Given the description of an element on the screen output the (x, y) to click on. 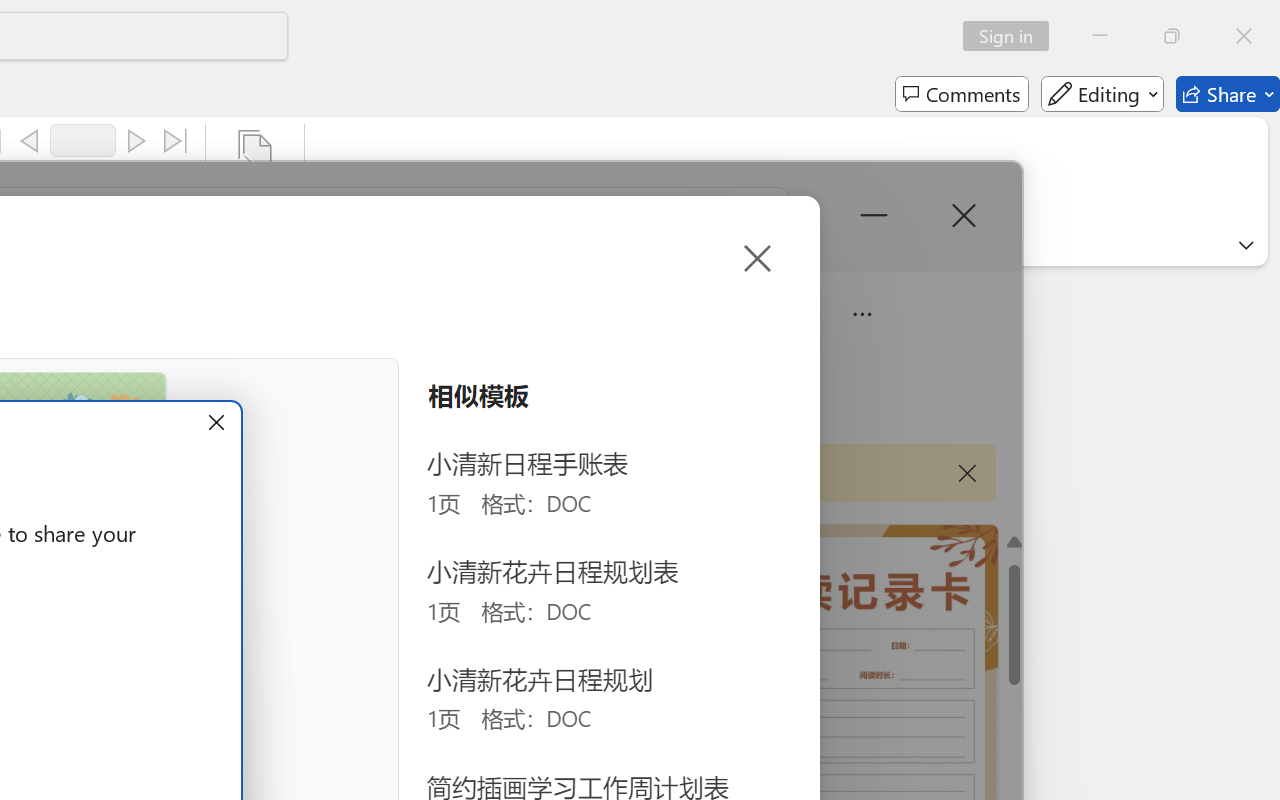
Last (175, 141)
Finish & Merge (255, 179)
Sign in (1012, 35)
Previous (29, 141)
Editing (1101, 94)
Record (83, 140)
Next (136, 141)
